Given the description of an element on the screen output the (x, y) to click on. 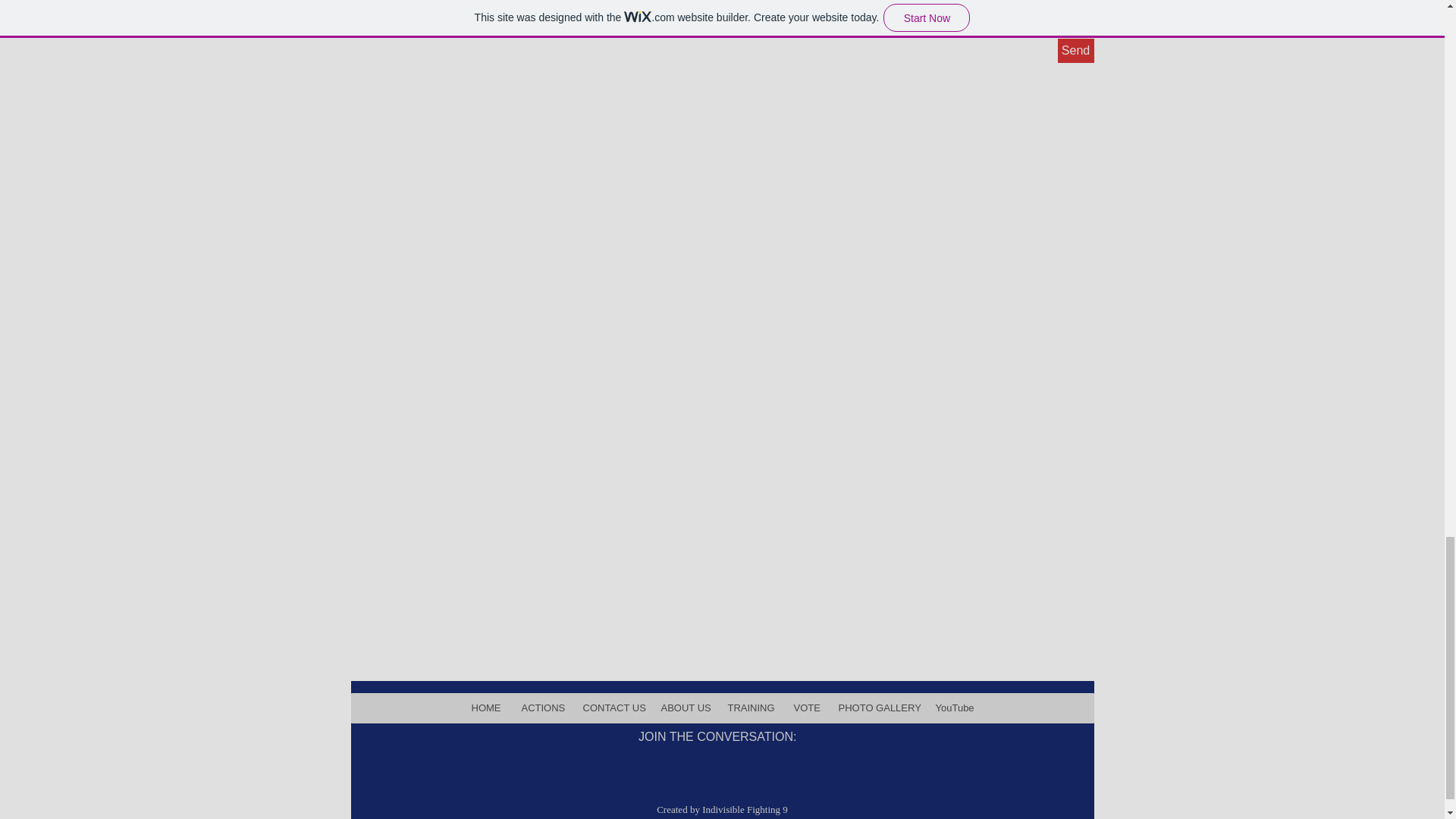
HOME (486, 707)
ACTIONS (541, 707)
ABOUT US (683, 707)
CONTACT US (610, 707)
Embedded Content (717, 608)
PHOTO GALLERY (876, 707)
TRAINING (750, 707)
Send (1075, 50)
YouTube (954, 707)
VOTE (805, 707)
